Given the description of an element on the screen output the (x, y) to click on. 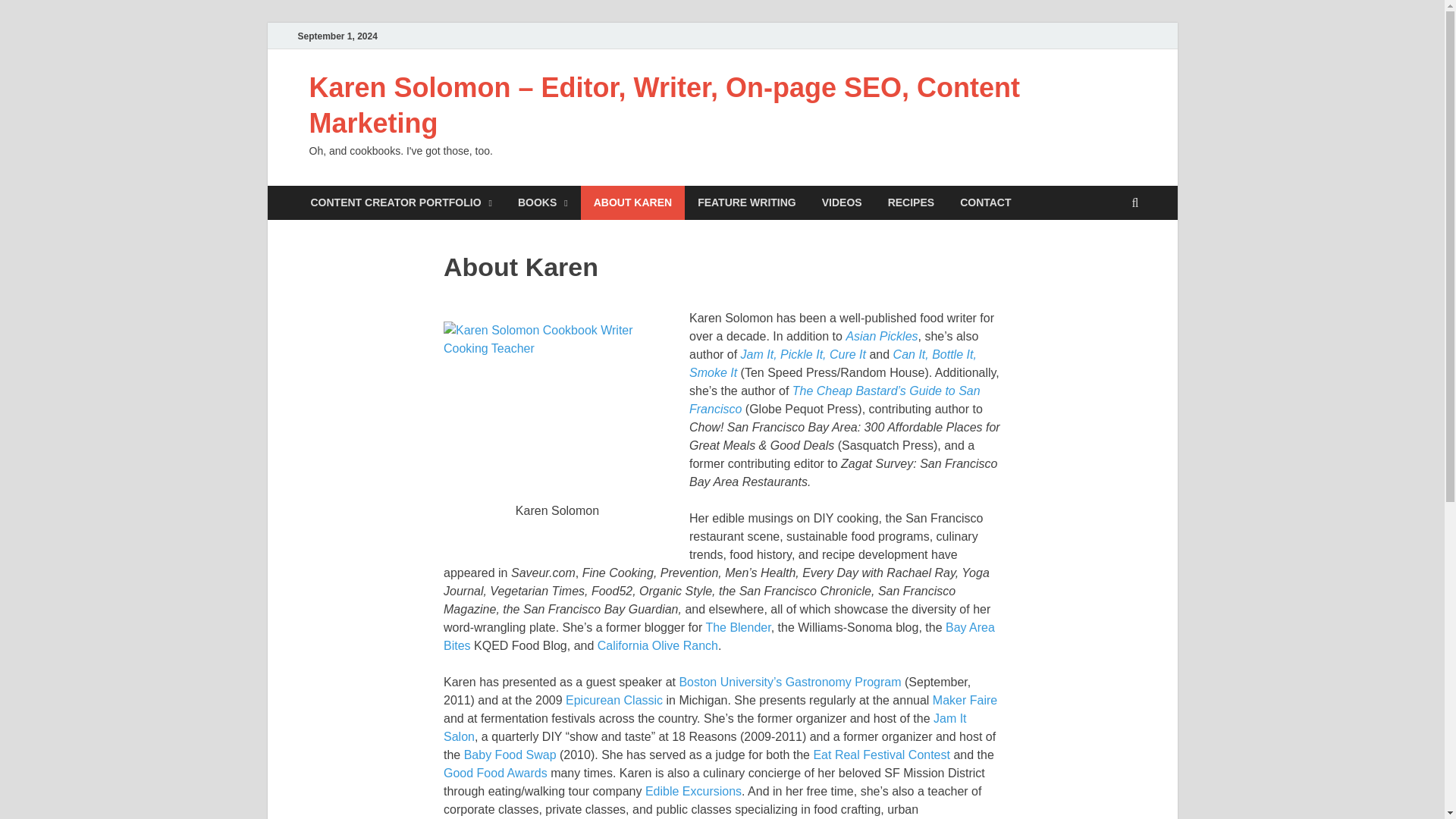
Asian Pickles (881, 336)
Eat Real Festival Contest (881, 754)
FEATURE WRITING (746, 202)
The Blender (737, 626)
CONTACT (985, 202)
Good Food Awards (495, 772)
ABOUT KAREN (632, 202)
Can It, Bottle It, Smoke It (832, 363)
RECIPES (911, 202)
Bay Area Bites (719, 635)
